Given the description of an element on the screen output the (x, y) to click on. 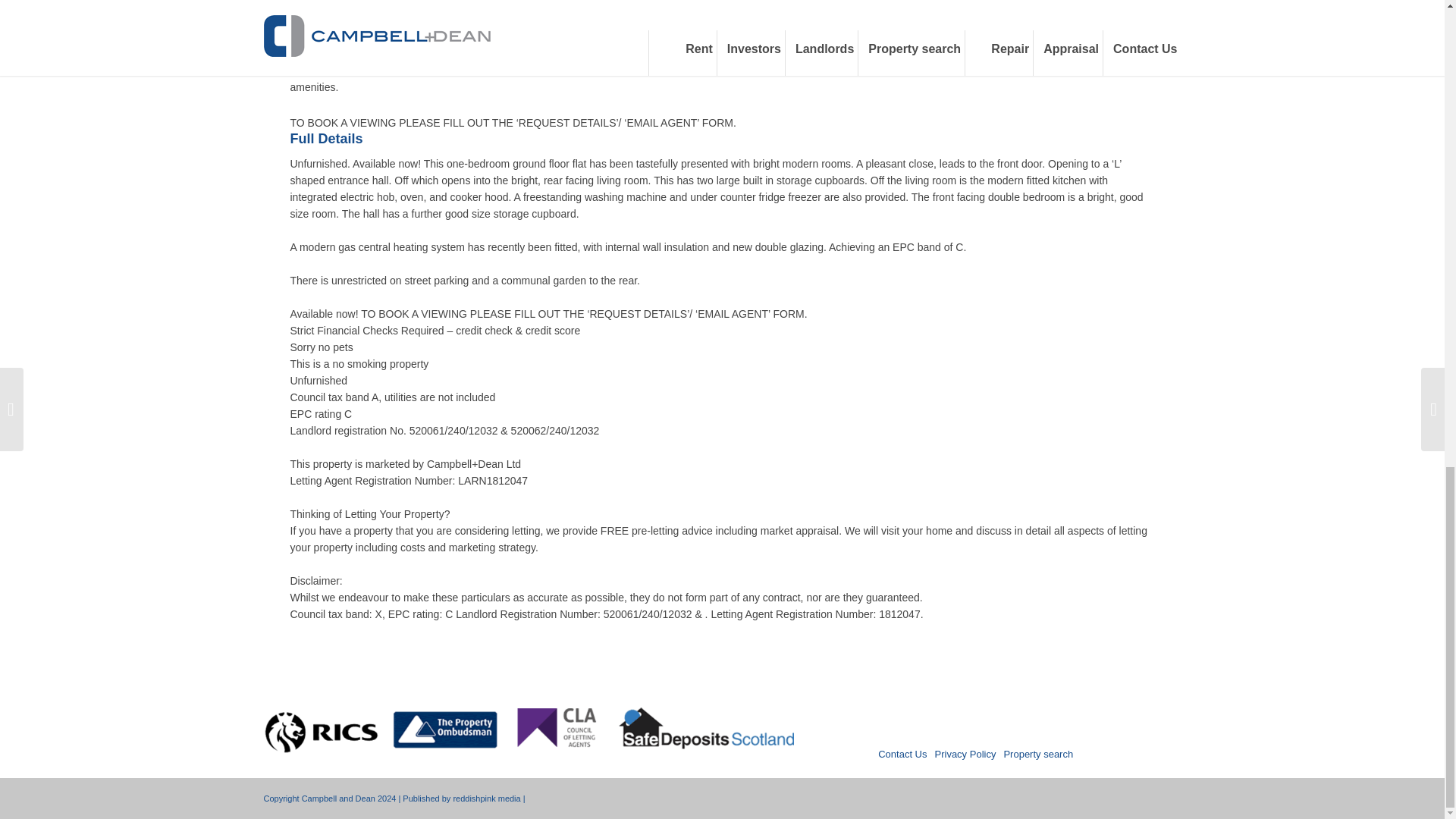
Make Enquiry (328, 3)
Virtual Tour (322, 19)
